Given the description of an element on the screen output the (x, y) to click on. 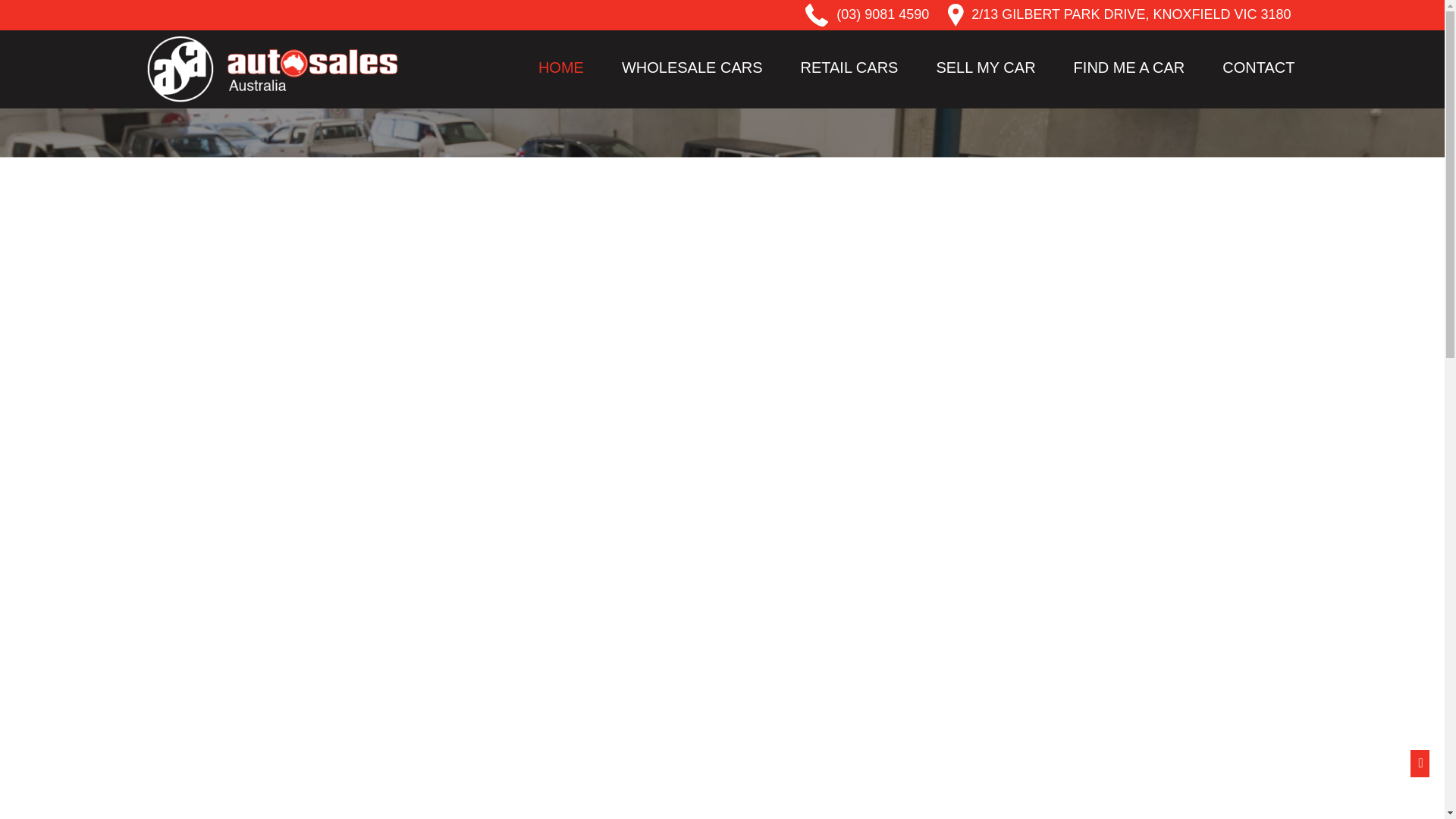
WHOLESALE CARS (692, 67)
RETAIL CARS (849, 67)
CONTACT (1257, 67)
FIND ME A CAR (1128, 67)
HOME (561, 67)
SELL MY CAR (985, 67)
